Given the description of an element on the screen output the (x, y) to click on. 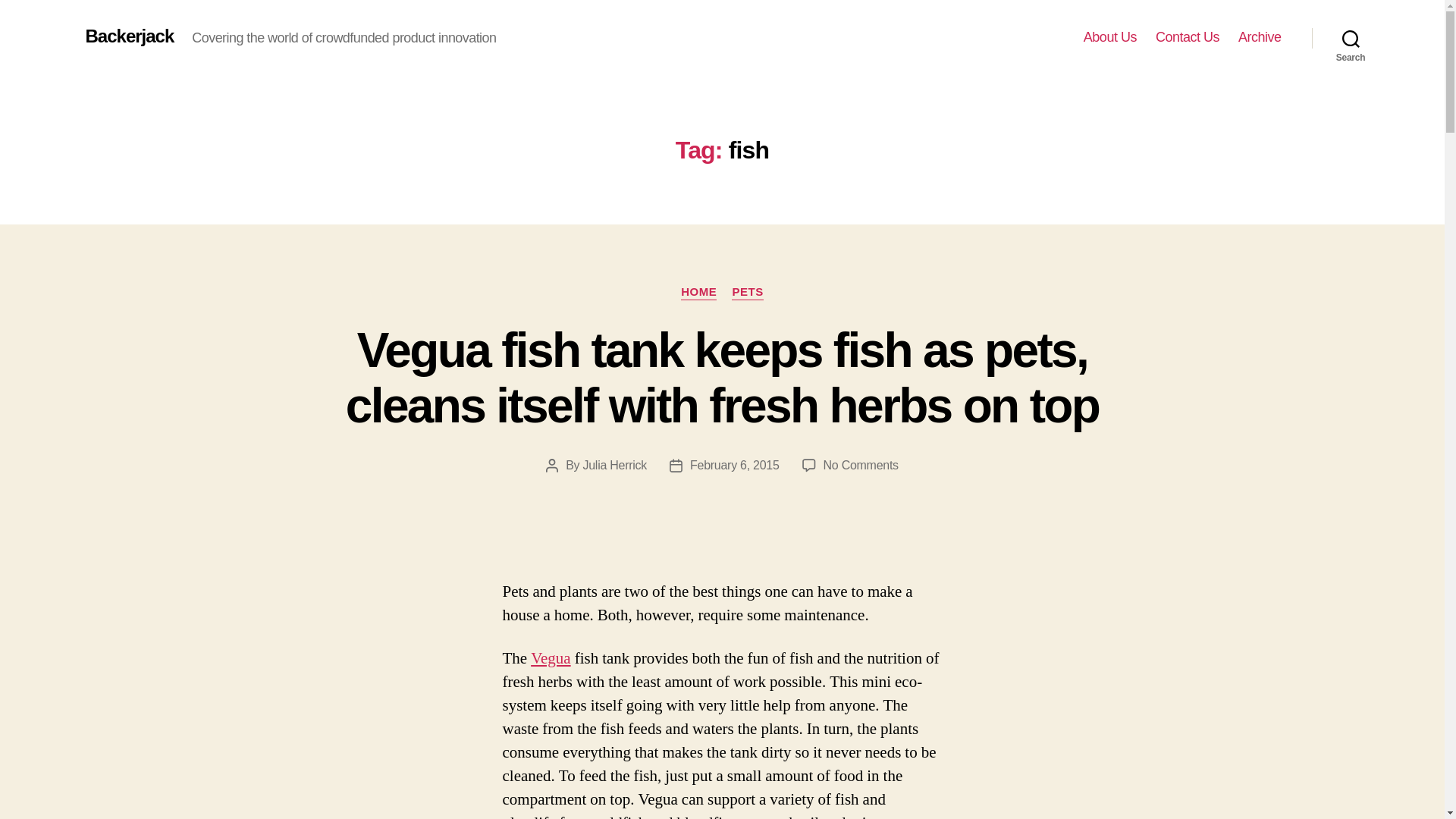
PETS (747, 292)
Contact Us (1188, 37)
February 6, 2015 (734, 464)
HOME (698, 292)
Vegua (550, 658)
Julia Herrick (614, 464)
Archive (1260, 37)
Backerjack (128, 36)
About Us (1110, 37)
Search (1350, 37)
